Given the description of an element on the screen output the (x, y) to click on. 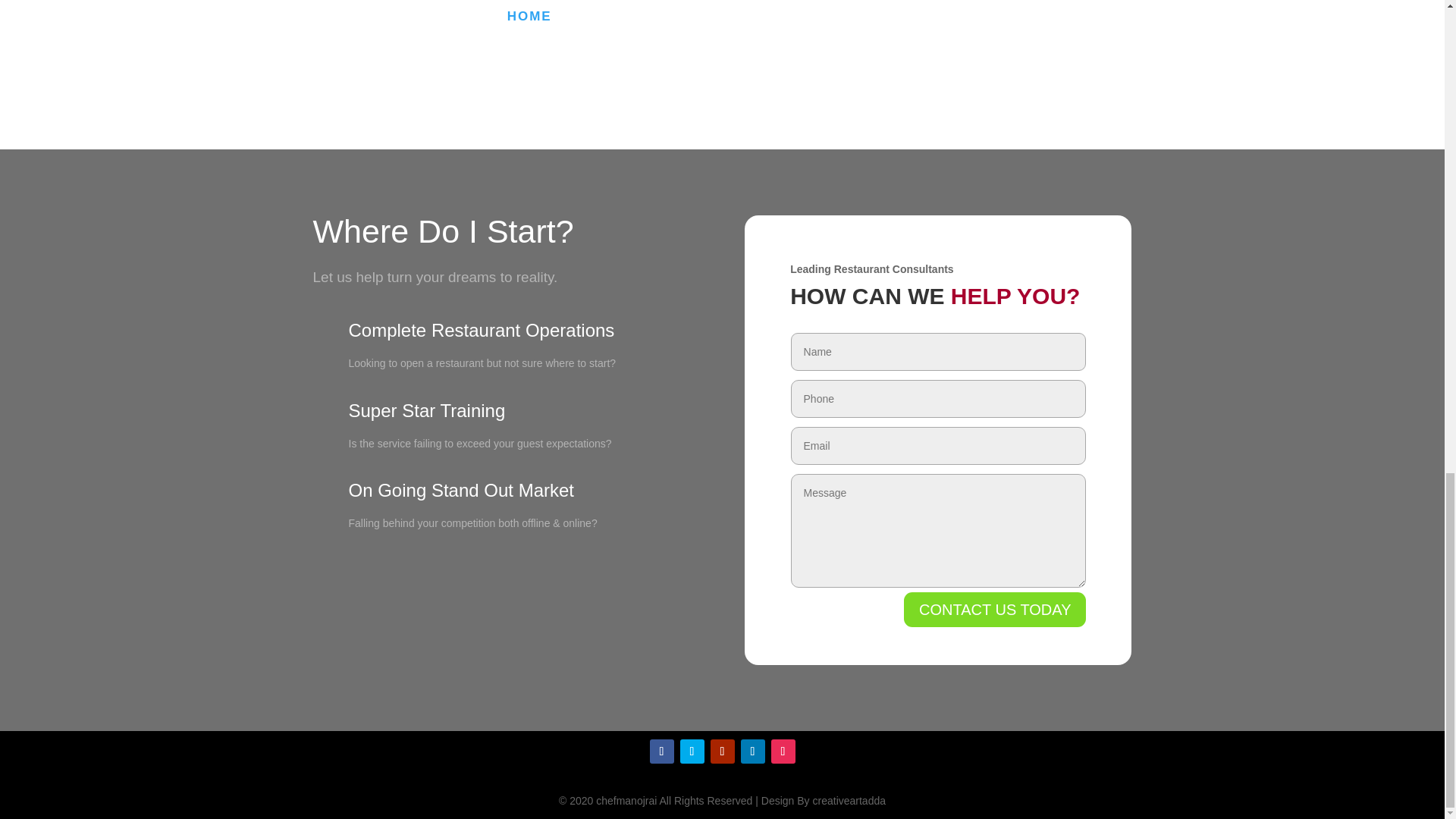
CONTACT US TODAY (995, 609)
Follow on Instagram (782, 751)
Follow on Youtube (721, 751)
Follow on Twitter (691, 751)
creativeartadda (849, 800)
Follow on LinkedIn (751, 751)
Follow on Facebook (660, 751)
